Given the description of an element on the screen output the (x, y) to click on. 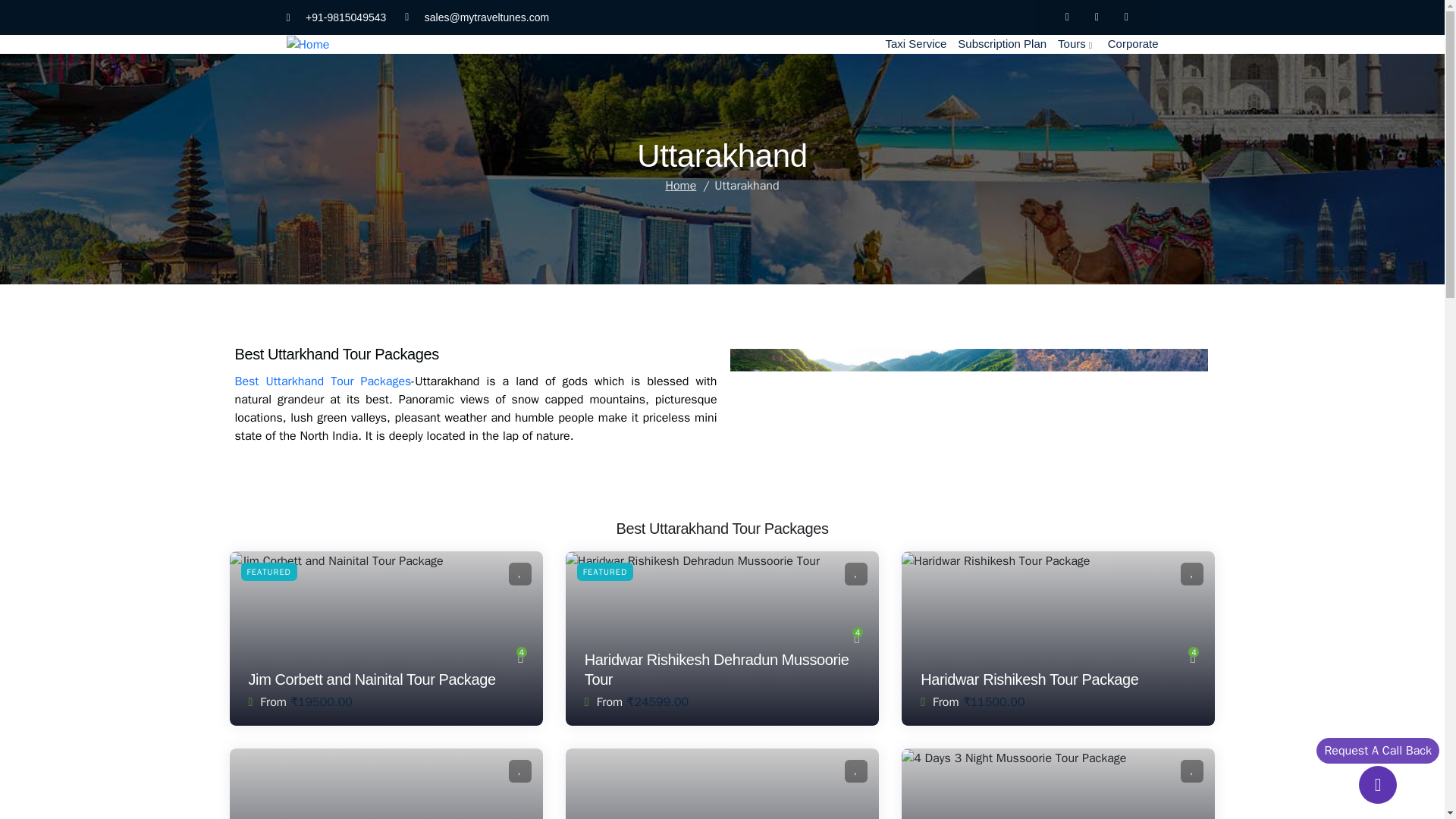
Wishlist (1192, 771)
Home (308, 44)
Wishlist (855, 573)
Home (680, 185)
Corporate (1139, 44)
Tours (1083, 44)
Wishlist (519, 573)
Taxi Service (921, 44)
Best Uttarkhand Tour Packages (323, 381)
Request A Call Back (1377, 750)
Wishlist (519, 771)
Subscription Plan (1008, 44)
Wishlist (855, 771)
Wishlist (1192, 573)
